Given the description of an element on the screen output the (x, y) to click on. 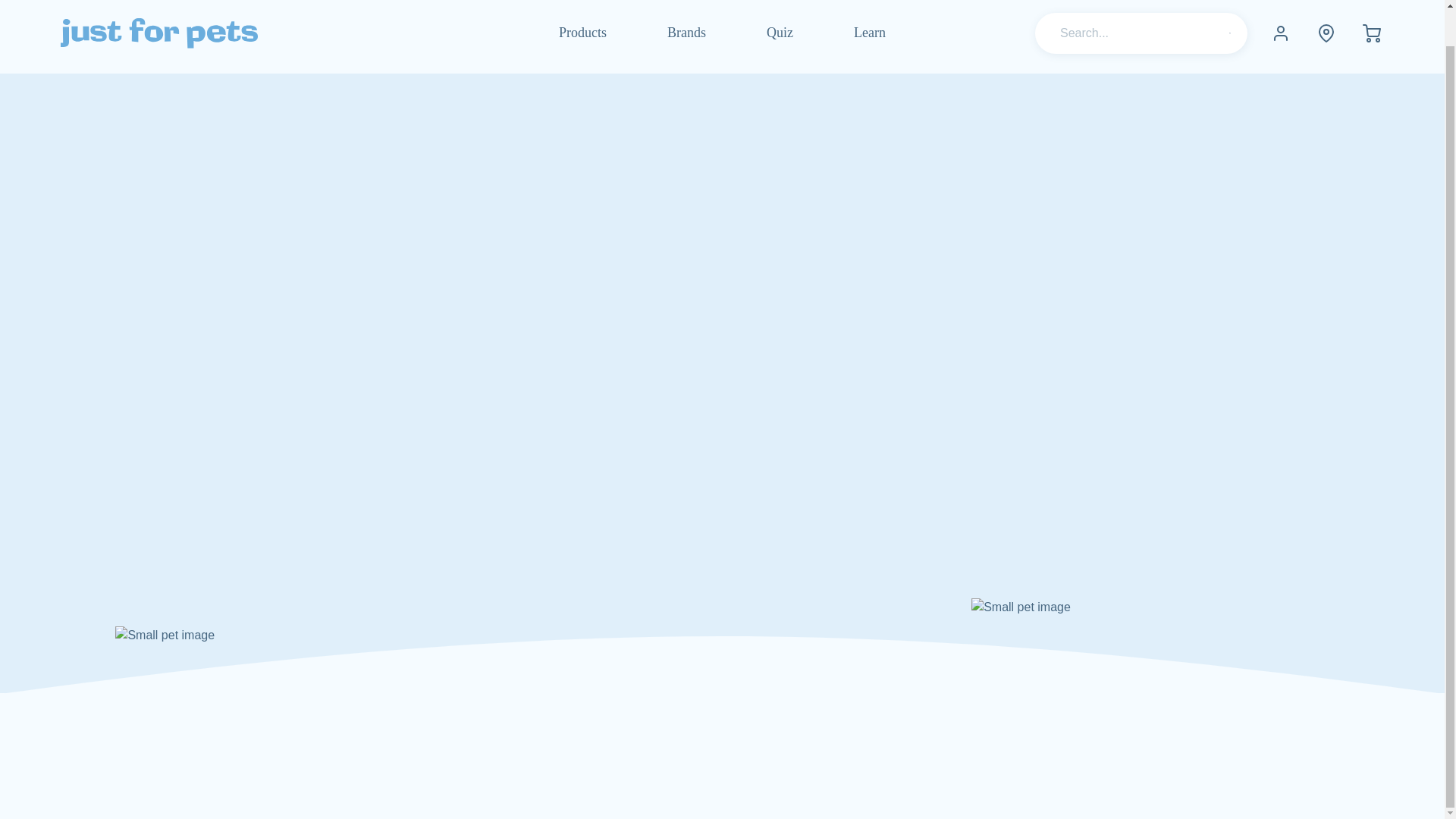
Products (582, 36)
Home (159, 33)
Products (582, 36)
